Given the description of an element on the screen output the (x, y) to click on. 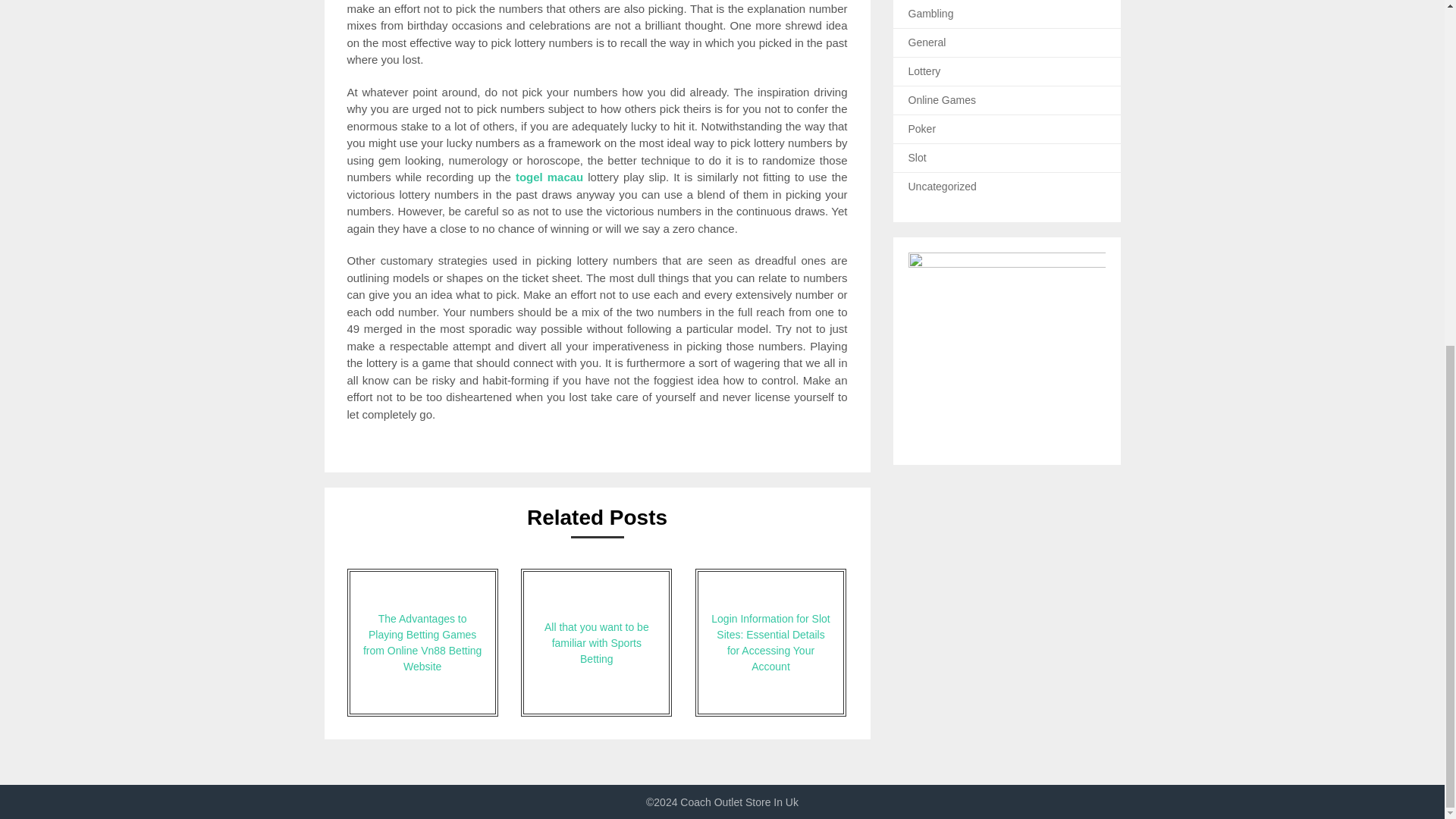
Online Games (941, 100)
Lottery (924, 70)
All that you want to be familiar with Sports Betting (596, 642)
All that you want to be familiar with Sports Betting (596, 642)
Uncategorized (942, 186)
General (927, 42)
Slot (917, 157)
togel macau (549, 176)
Gambling (930, 13)
Poker (922, 128)
